Given the description of an element on the screen output the (x, y) to click on. 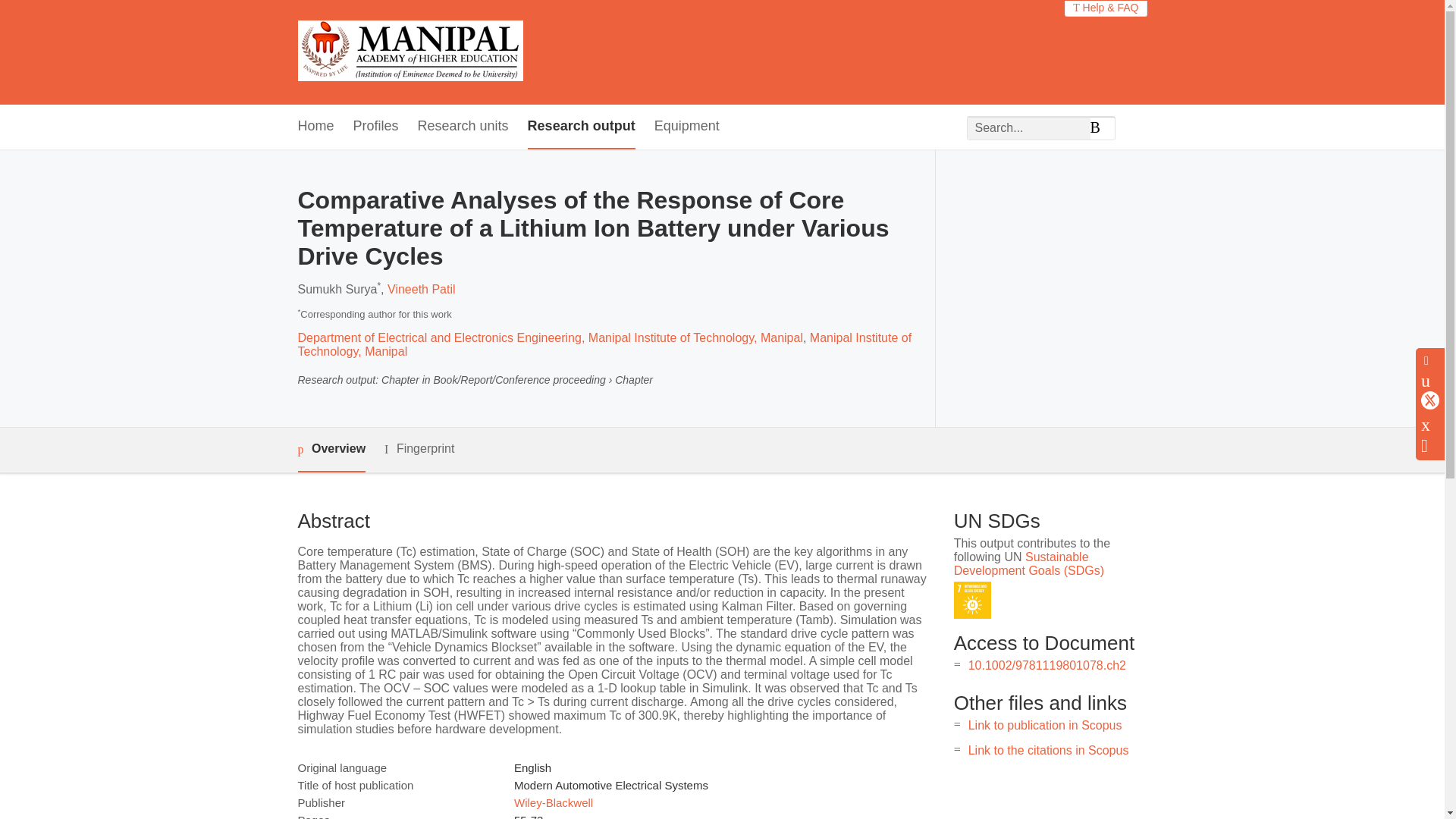
Profiles (375, 126)
Overview (331, 449)
Fingerprint (419, 448)
Link to publication in Scopus (1045, 725)
Link to the citations in Scopus (1048, 749)
Equipment (686, 126)
Vineeth Patil (421, 288)
SDG 7 - Affordable and Clean Energy (972, 600)
Research units (462, 126)
Research output (580, 126)
